Given the description of an element on the screen output the (x, y) to click on. 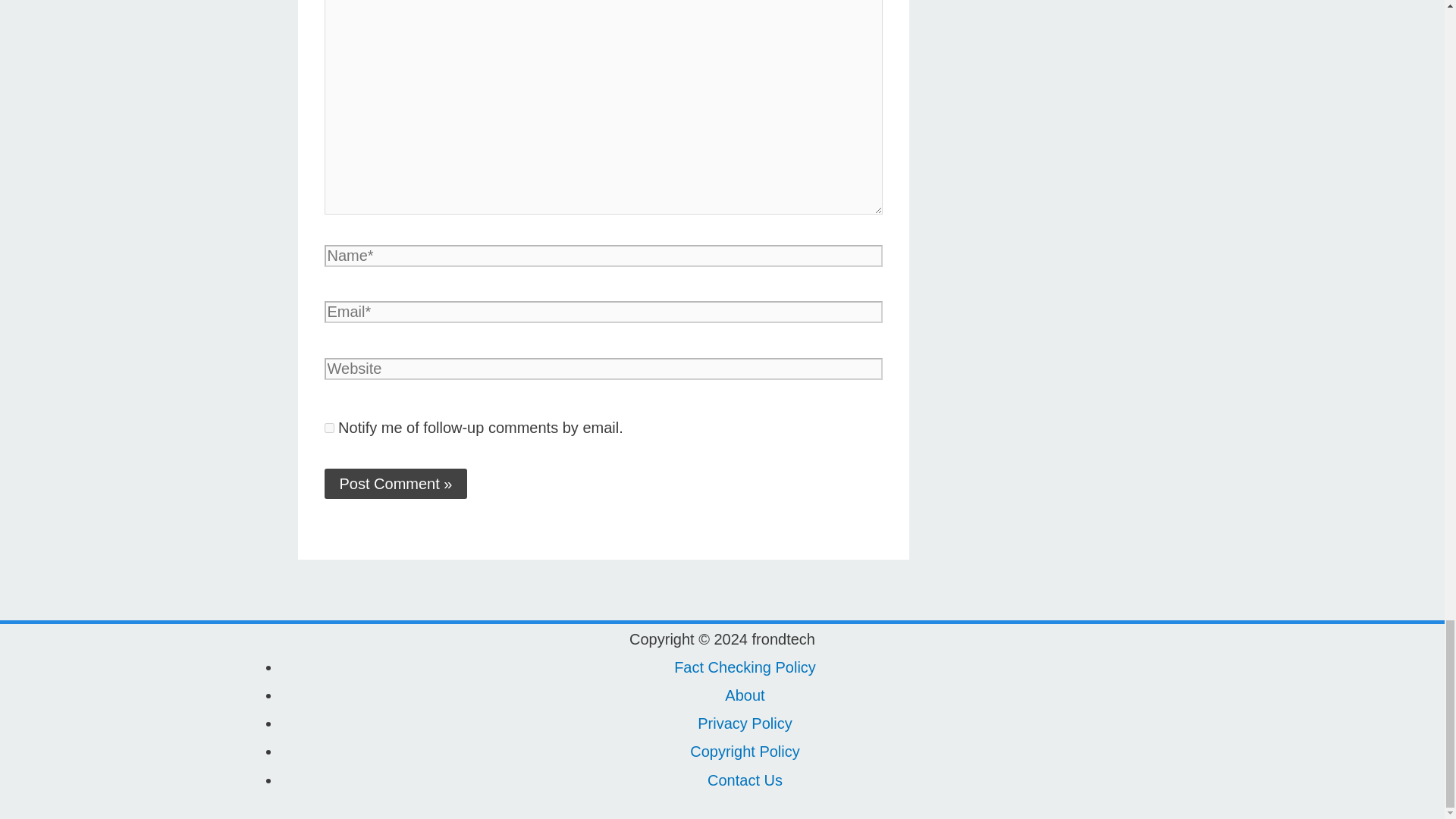
subscribe (329, 428)
